Given the description of an element on the screen output the (x, y) to click on. 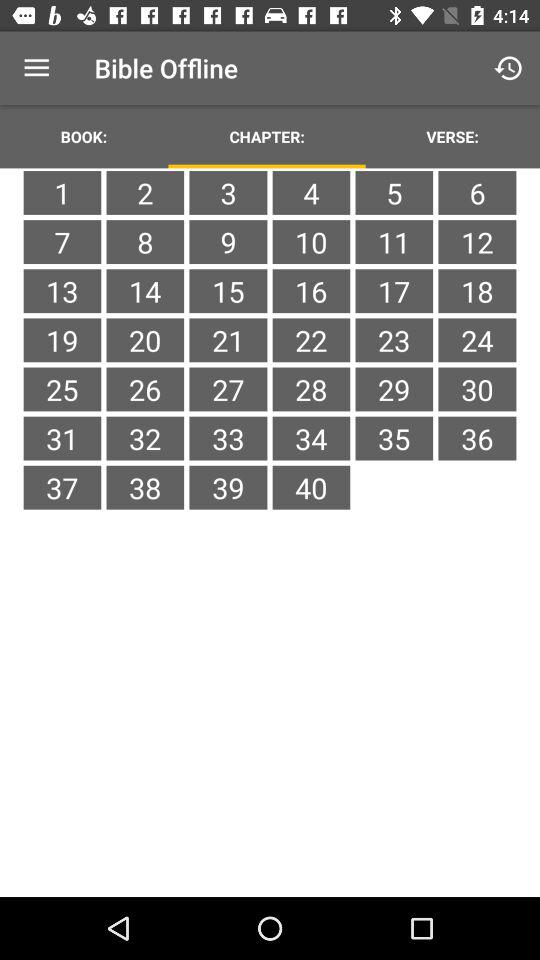
open the item below 11 icon (477, 291)
